Given the description of an element on the screen output the (x, y) to click on. 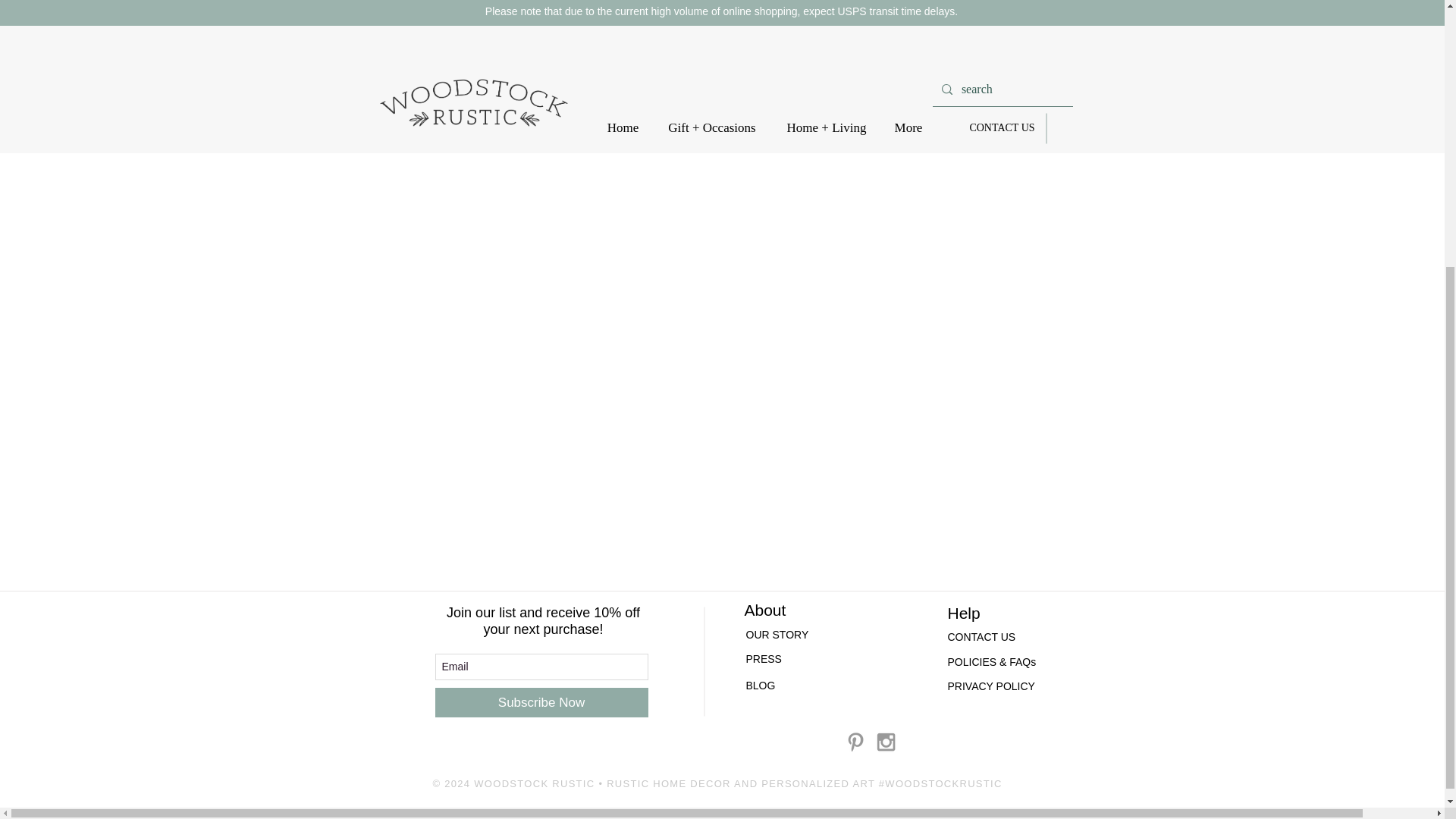
BLOG (760, 685)
PRIVACY POLICY (991, 686)
CONTACT US (981, 637)
PRESS (786, 659)
Subscribe Now (541, 702)
OUR STORY (788, 634)
WOODSTOCK RUSTIC (534, 783)
